Given the description of an element on the screen output the (x, y) to click on. 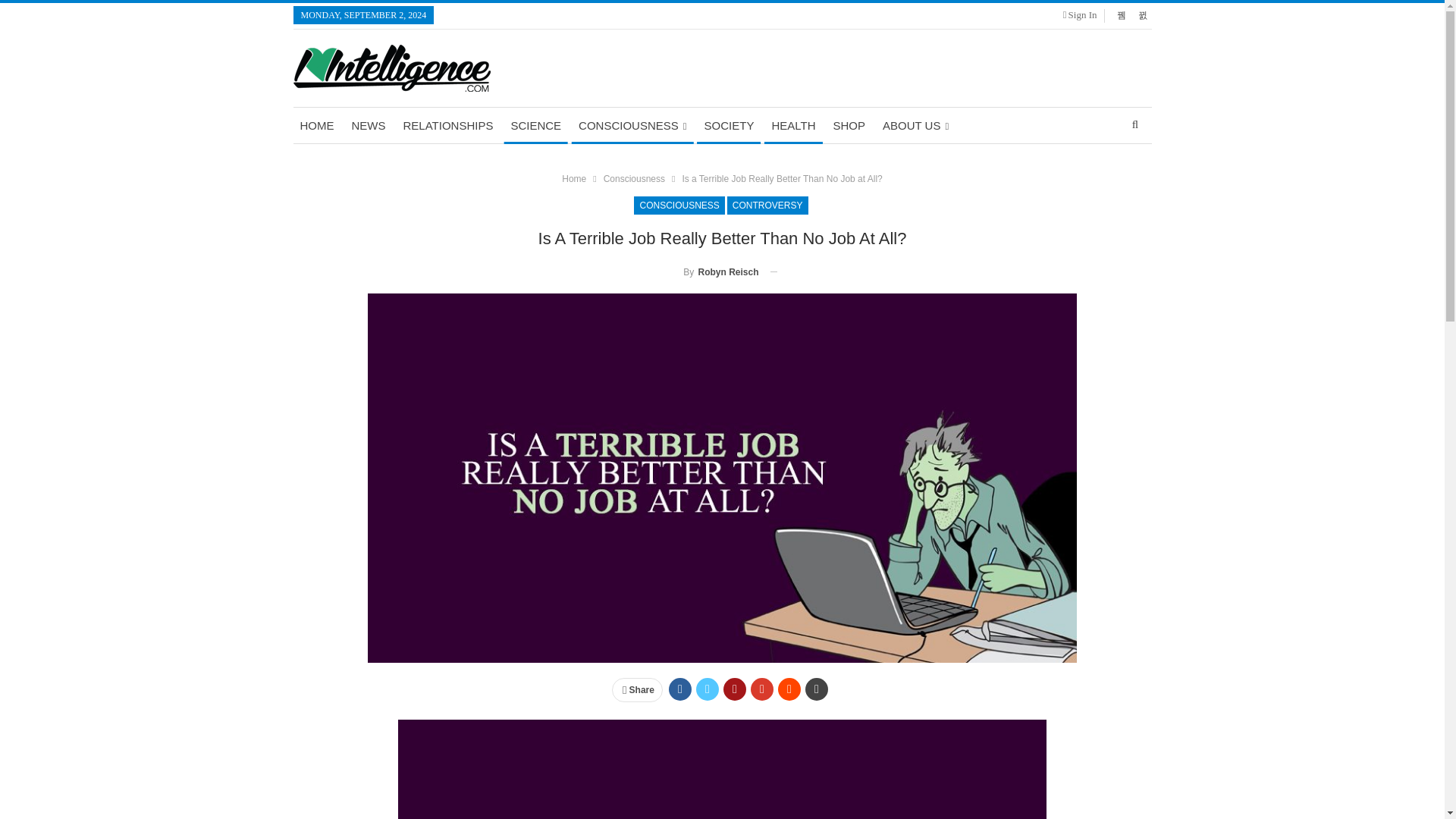
RELATIONSHIPS (447, 125)
CONSCIOUSNESS (632, 125)
Browse Author Articles (708, 271)
HOME (316, 125)
Home (574, 178)
ABOUT US (915, 125)
HEALTH (793, 125)
SCIENCE (535, 125)
NEWS (367, 125)
Sign In (1082, 14)
